Given the description of an element on the screen output the (x, y) to click on. 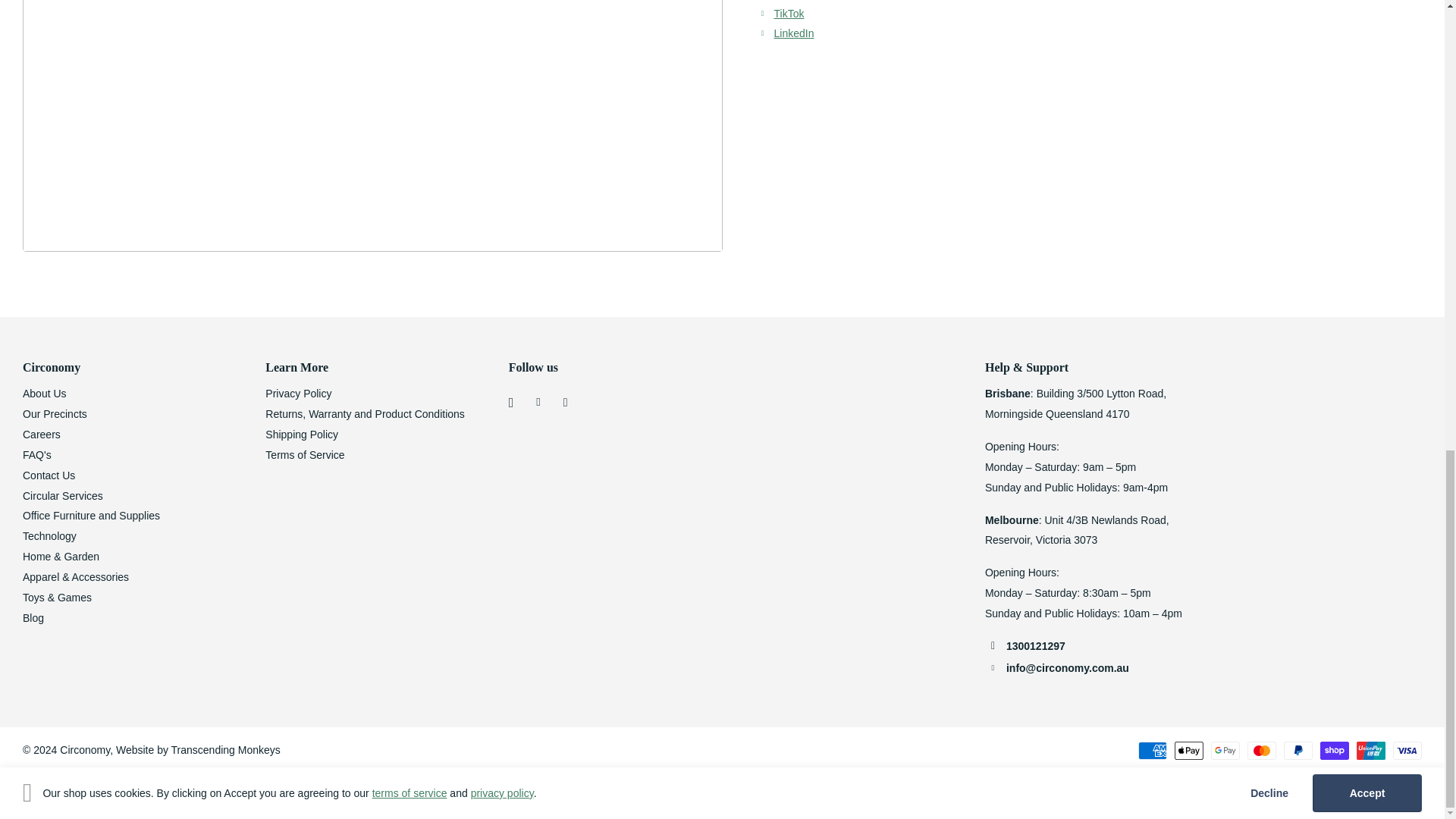
Returns, Warranty and Product Conditions (364, 413)
Blog (33, 617)
Shipping Policy (300, 434)
About Us (44, 393)
Linkedin (793, 33)
Mastercard (1261, 751)
Shop Pay (1334, 751)
Apple Pay (1189, 751)
PayPal (1298, 751)
Careers (42, 434)
Circular Services (63, 495)
Union Pay (1371, 751)
Technology (50, 535)
Office Furniture and Supplies (91, 515)
American Express (1152, 751)
